Given the description of an element on the screen output the (x, y) to click on. 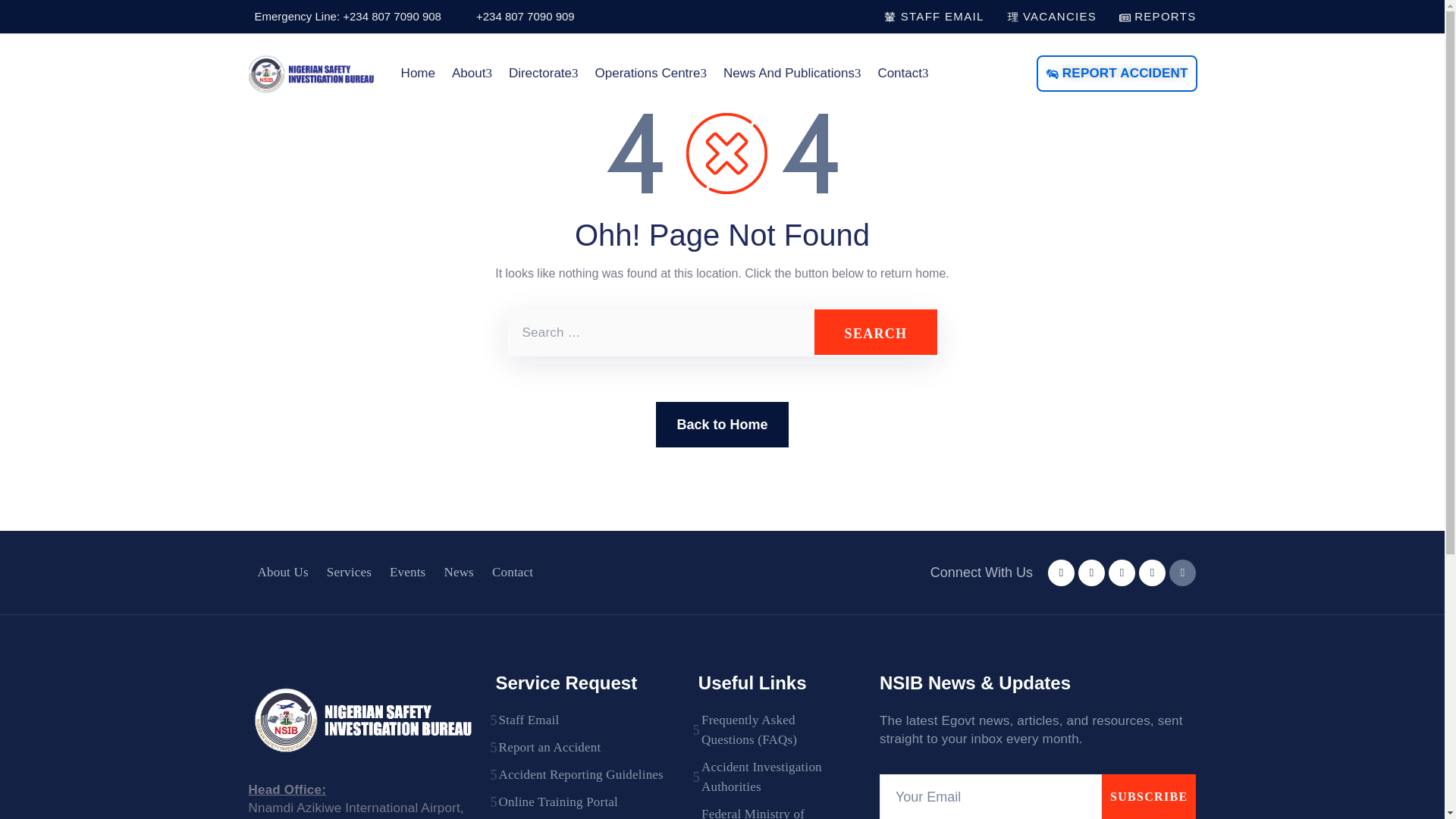
Directorate (543, 73)
News And Publications (791, 73)
Subscribe (1149, 796)
Operations Centre (650, 73)
Search (875, 331)
STAFF EMAIL (933, 16)
REPORTS (1157, 16)
Search (875, 331)
VACANCIES (1052, 16)
